Given the description of an element on the screen output the (x, y) to click on. 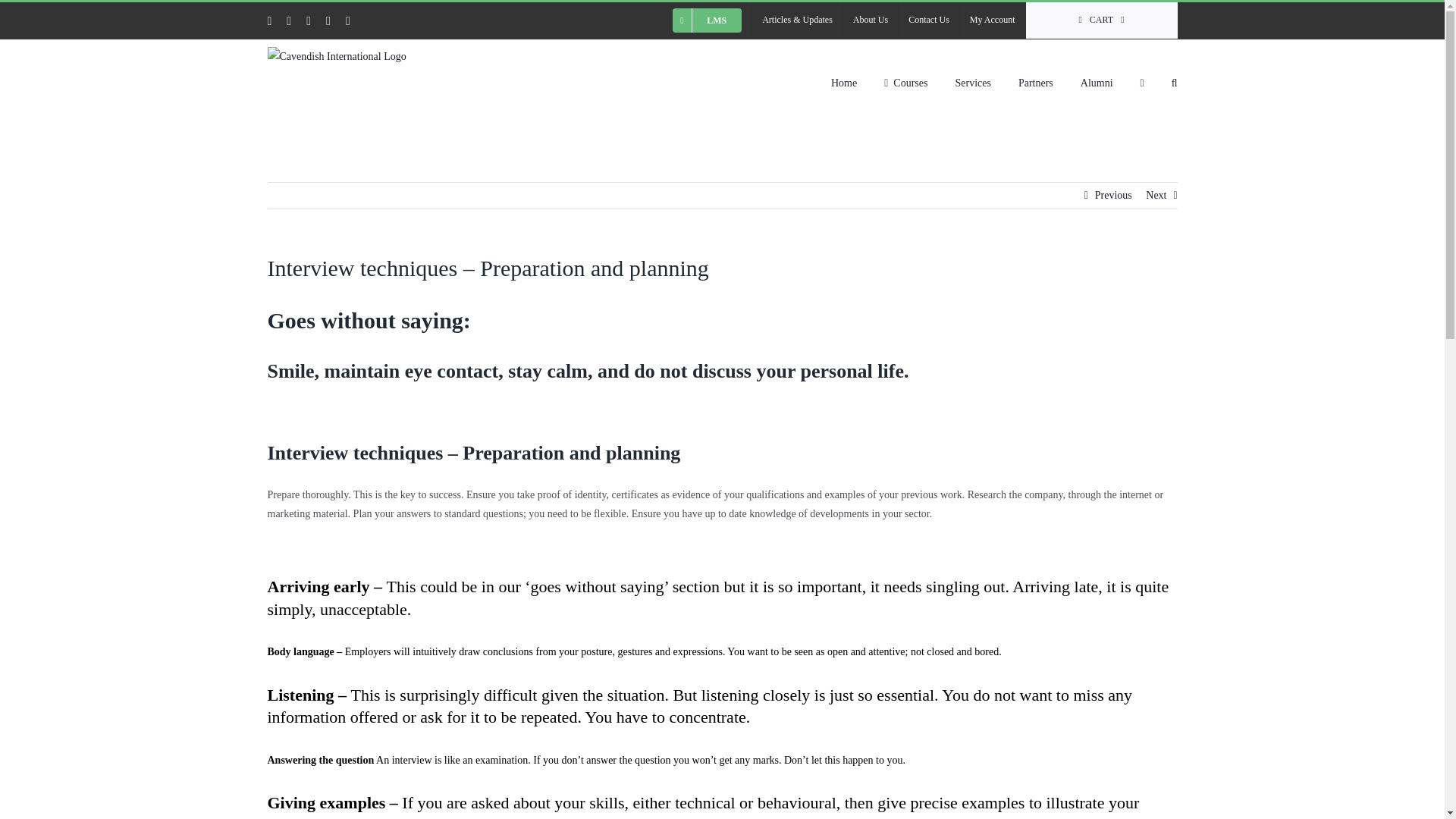
LMS (706, 20)
Log In (1066, 181)
My Account (992, 20)
CART (1101, 20)
Contact Us (928, 20)
About Us (870, 20)
